Given the description of an element on the screen output the (x, y) to click on. 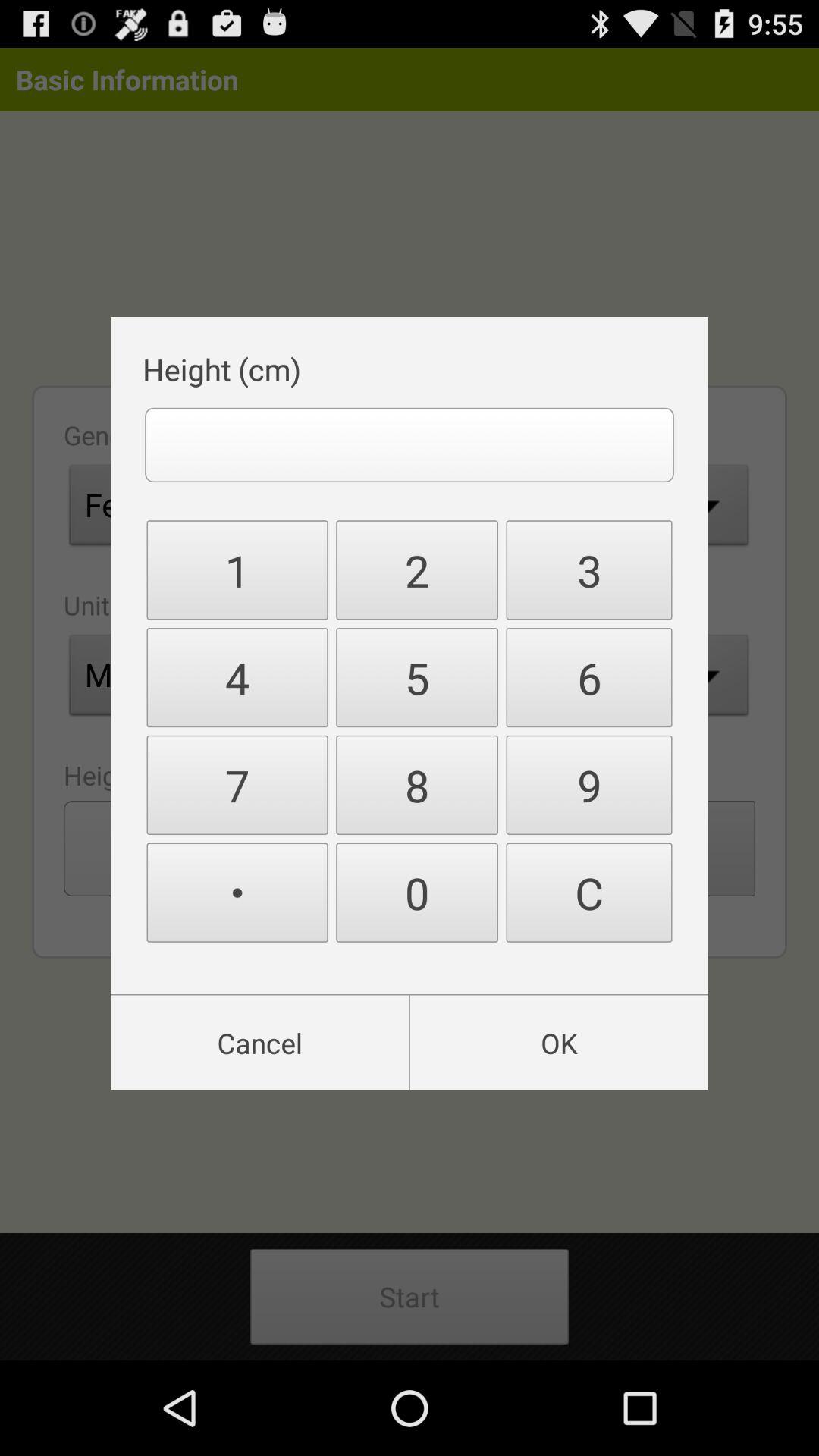
launch button to the left of the 3 item (417, 569)
